Given the description of an element on the screen output the (x, y) to click on. 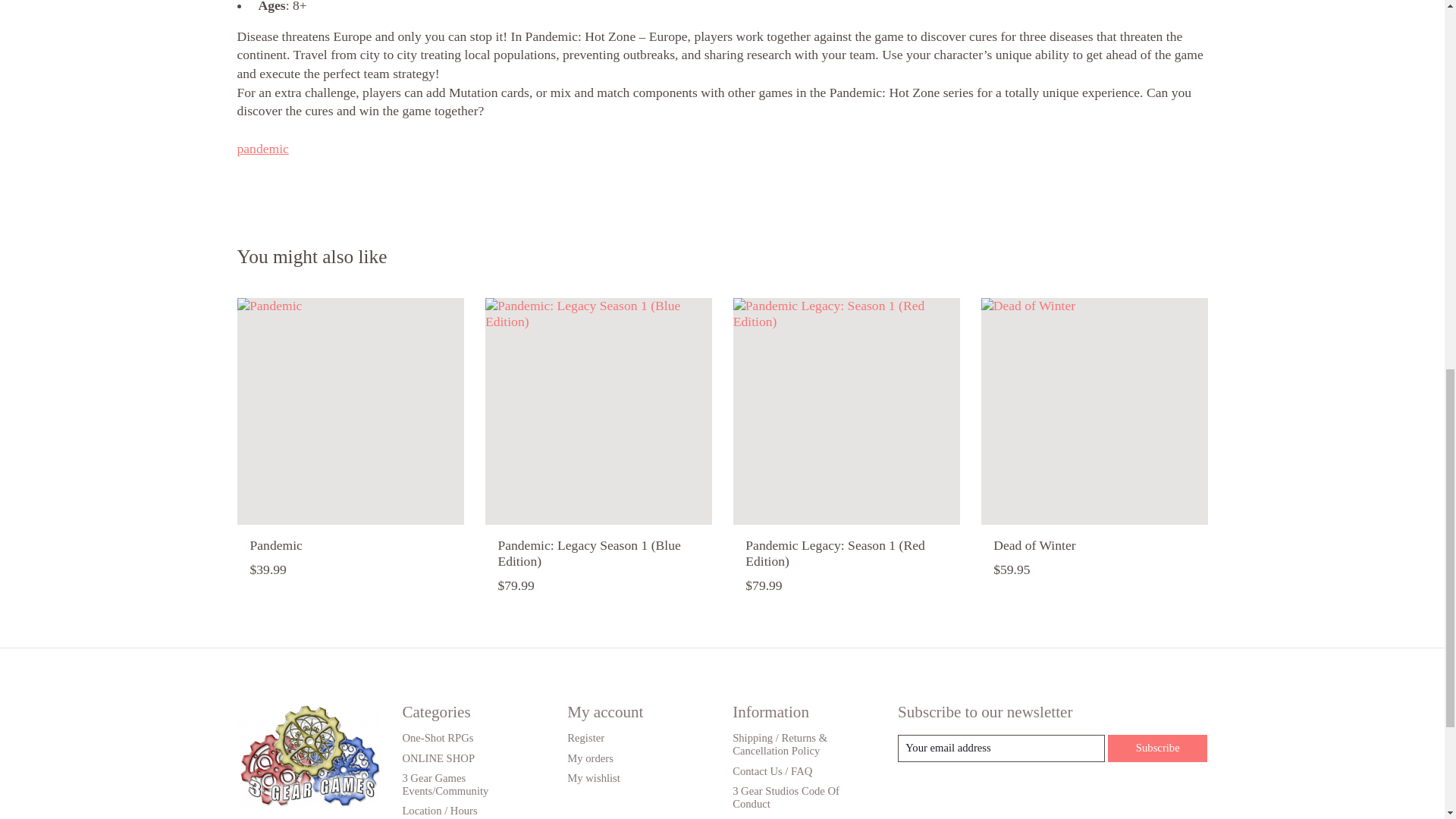
My orders (589, 758)
My wishlist (593, 777)
Pandemic (349, 411)
pandemic (261, 148)
Dead of Winter (1093, 411)
Register (585, 737)
